Given the description of an element on the screen output the (x, y) to click on. 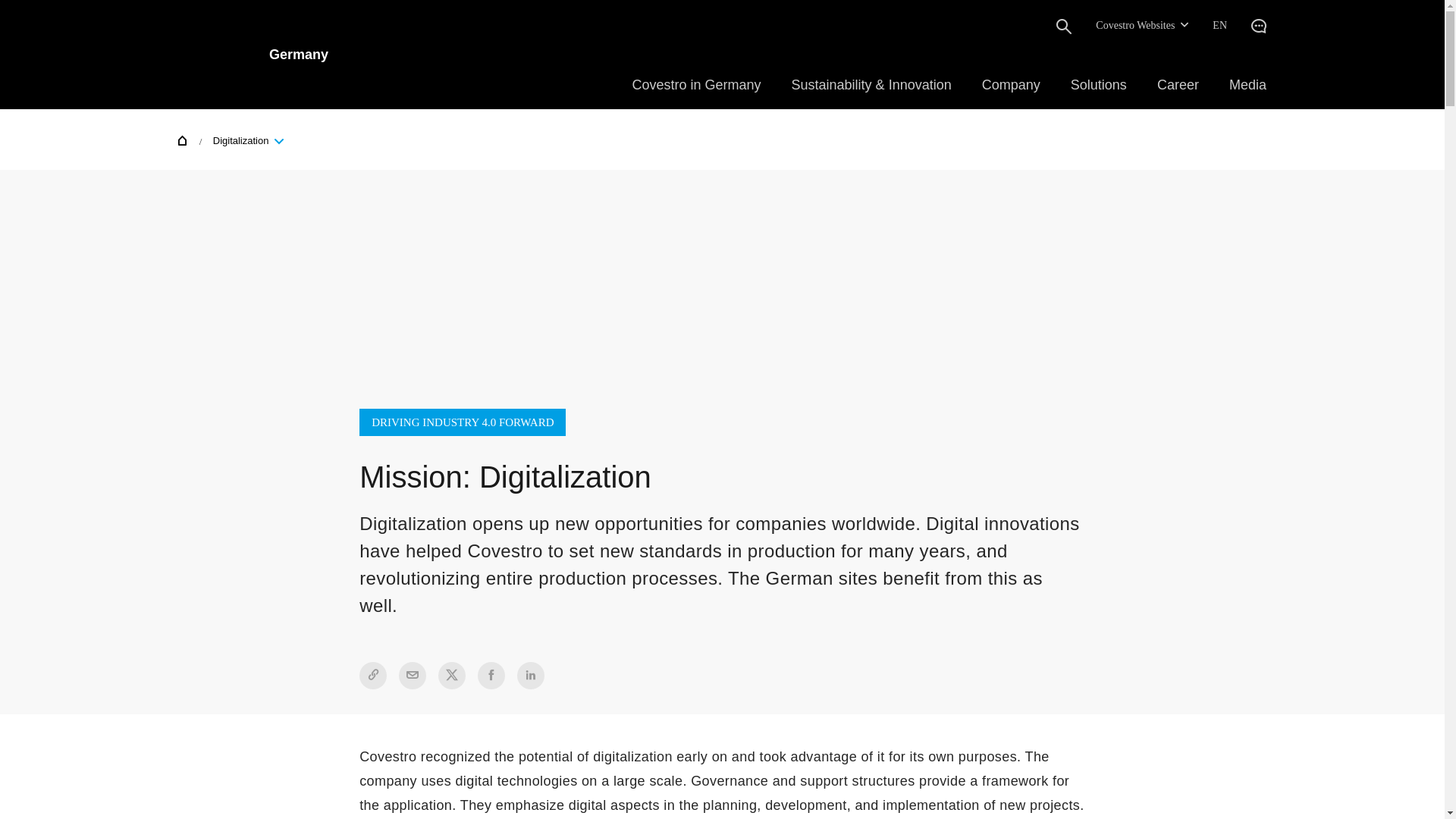
Company (1011, 85)
Digitalizing the core business (308, 749)
Covestro in Germany (696, 85)
Digitalizing the core business (315, 770)
Germany (253, 54)
Home Digitalization (234, 138)
Digitalization (245, 140)
